Given the description of an element on the screen output the (x, y) to click on. 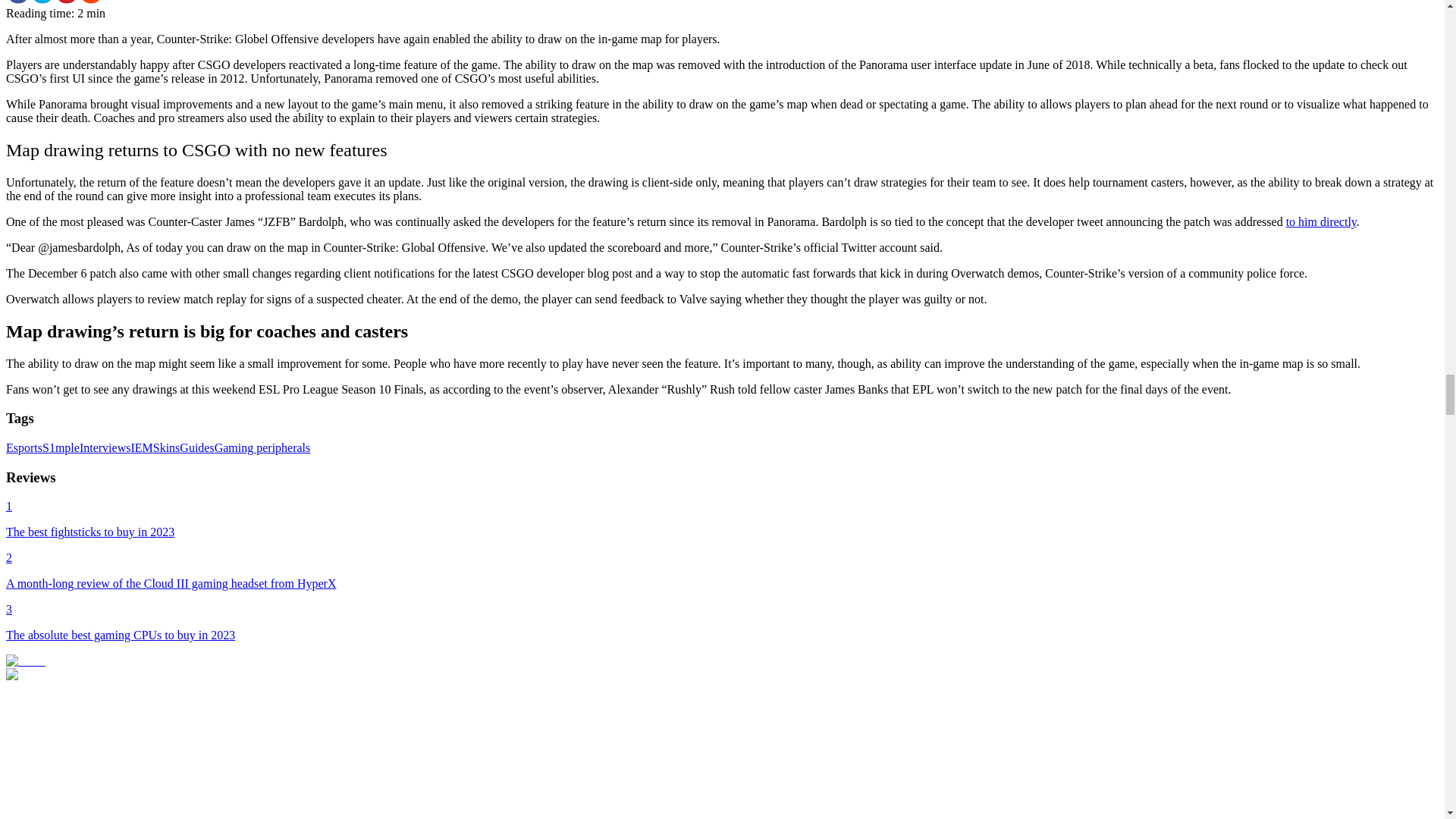
Interviews (105, 447)
Esports (23, 447)
IEM (141, 447)
Guides (196, 447)
Skins (166, 447)
Gaming peripherals (262, 447)
to him directly (1320, 221)
S1mple (61, 447)
